Given the description of an element on the screen output the (x, y) to click on. 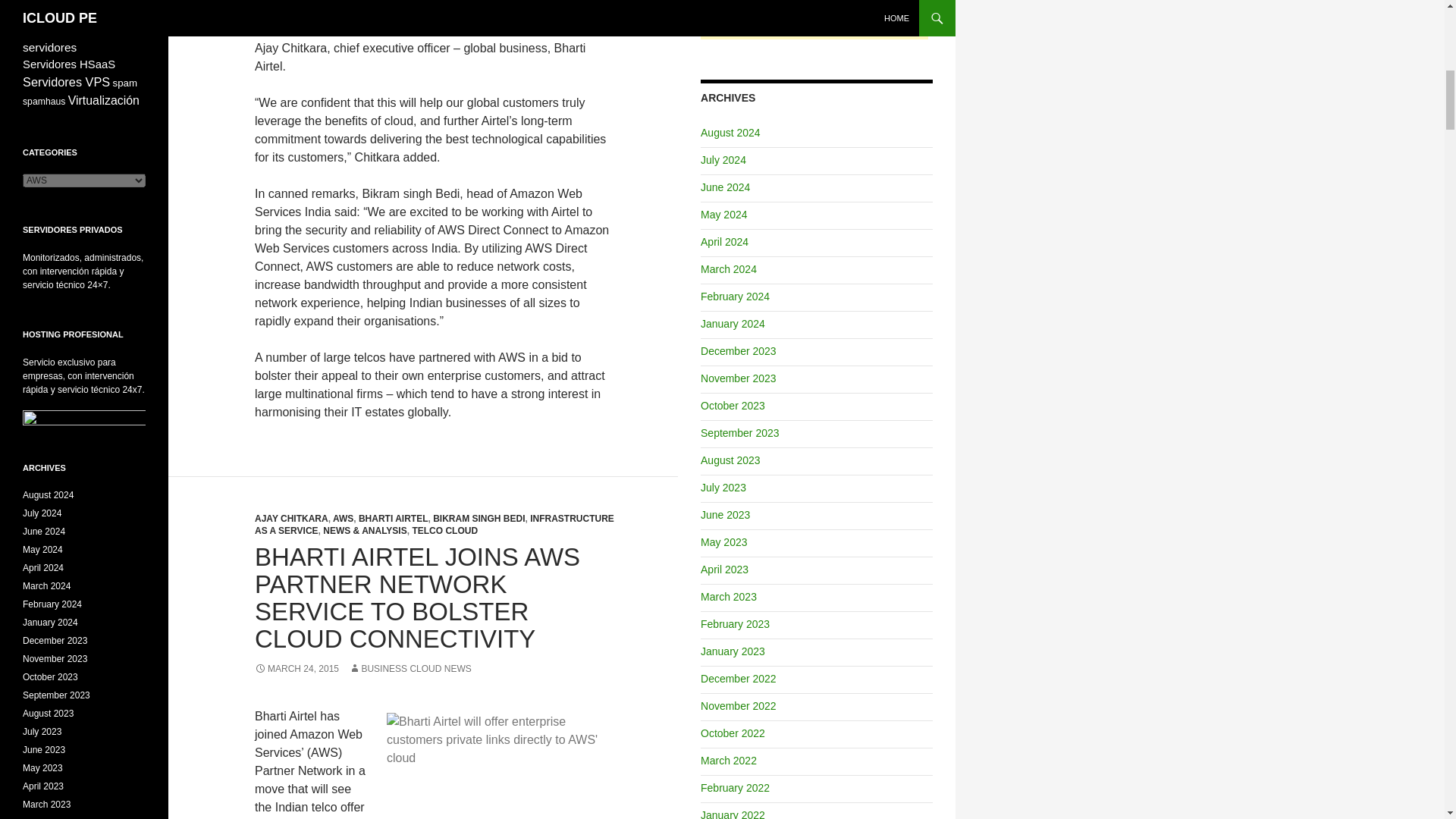
BUSINESS CLOUD NEWS (409, 668)
BIKRAM SINGH BEDI (478, 518)
INFRASTRUCTURE AS A SERVICE (434, 524)
MARCH 24, 2015 (296, 668)
TELCO CLOUD (444, 530)
BHARTI AIRTEL (393, 518)
AJAY CHITKARA (291, 518)
AWS (343, 518)
